Given the description of an element on the screen output the (x, y) to click on. 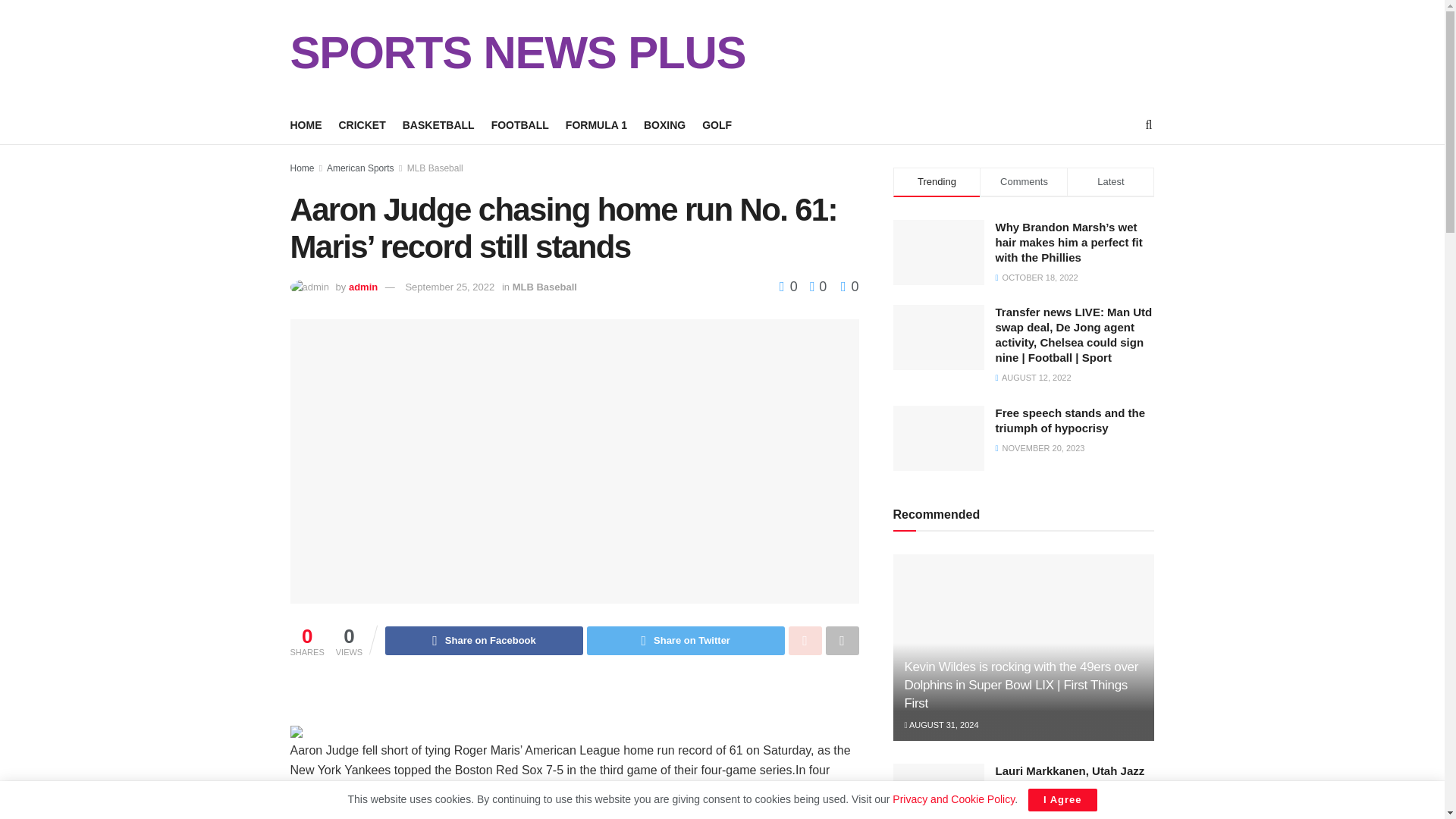
MLB Baseball (435, 167)
Share on Twitter (685, 640)
BASKETBALL (438, 124)
SPORTS NEWS PLUS (517, 53)
GOLF (716, 124)
Home (301, 167)
Share on Facebook (484, 640)
FOOTBALL (520, 124)
American Sports (360, 167)
0 (814, 286)
